Given the description of an element on the screen output the (x, y) to click on. 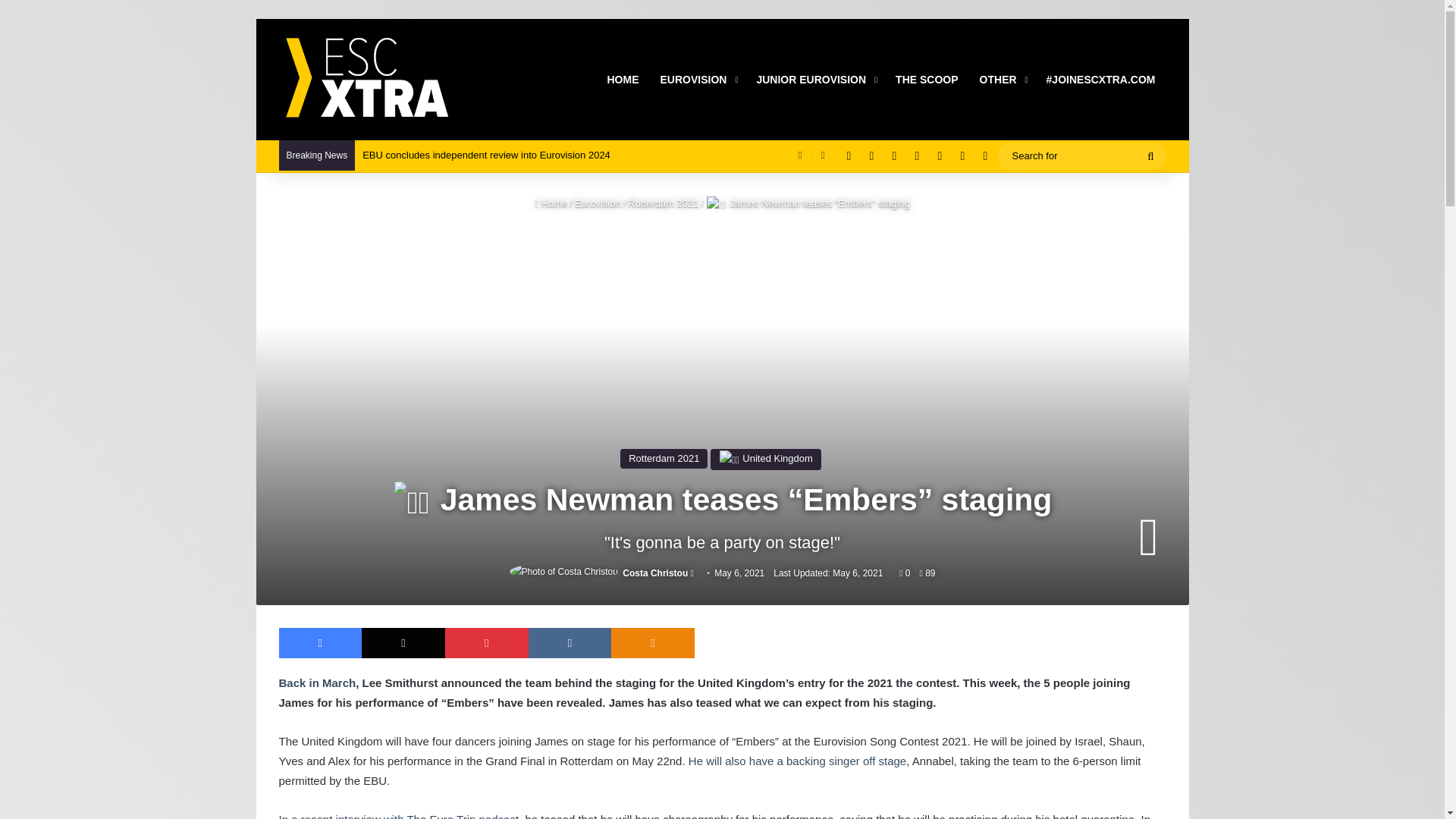
Rotterdam 2021 (662, 203)
Pinterest (486, 643)
Search for (1080, 155)
Rotterdam 2021 (663, 458)
Eurovision (598, 203)
Odnoklassniki (652, 643)
Costa Christou (655, 573)
Costa Christou (655, 573)
ESCXTRA.com (365, 79)
EBU concludes independent review into Eurovision 2024 (486, 154)
Facebook (320, 643)
X (403, 643)
JUNIOR EUROVISION (815, 79)
Home (550, 203)
United Kingdom (765, 458)
